Given the description of an element on the screen output the (x, y) to click on. 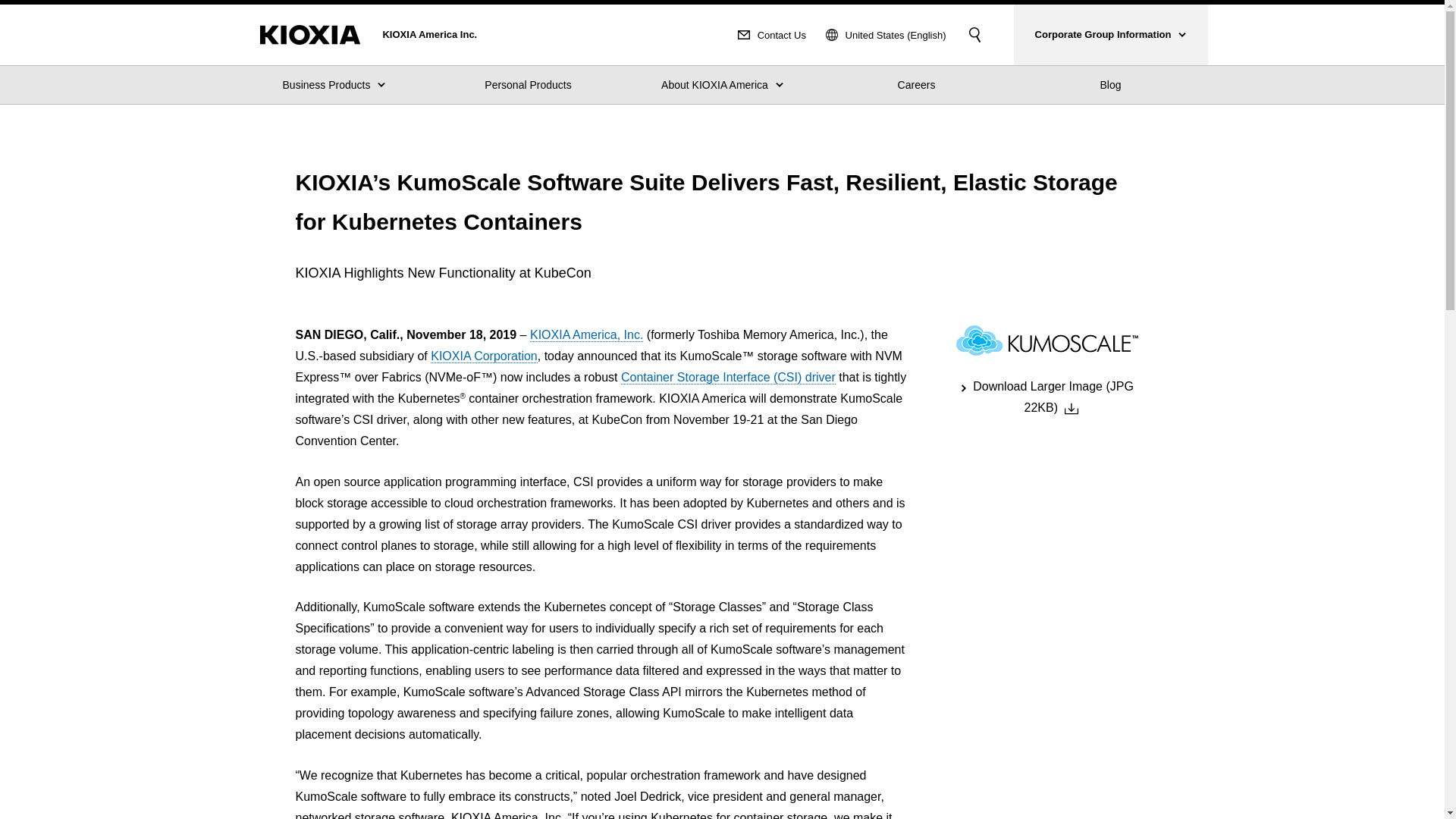
Corporate Group Information (1110, 34)
Business Products (332, 85)
Contact Us (772, 35)
